Given the description of an element on the screen output the (x, y) to click on. 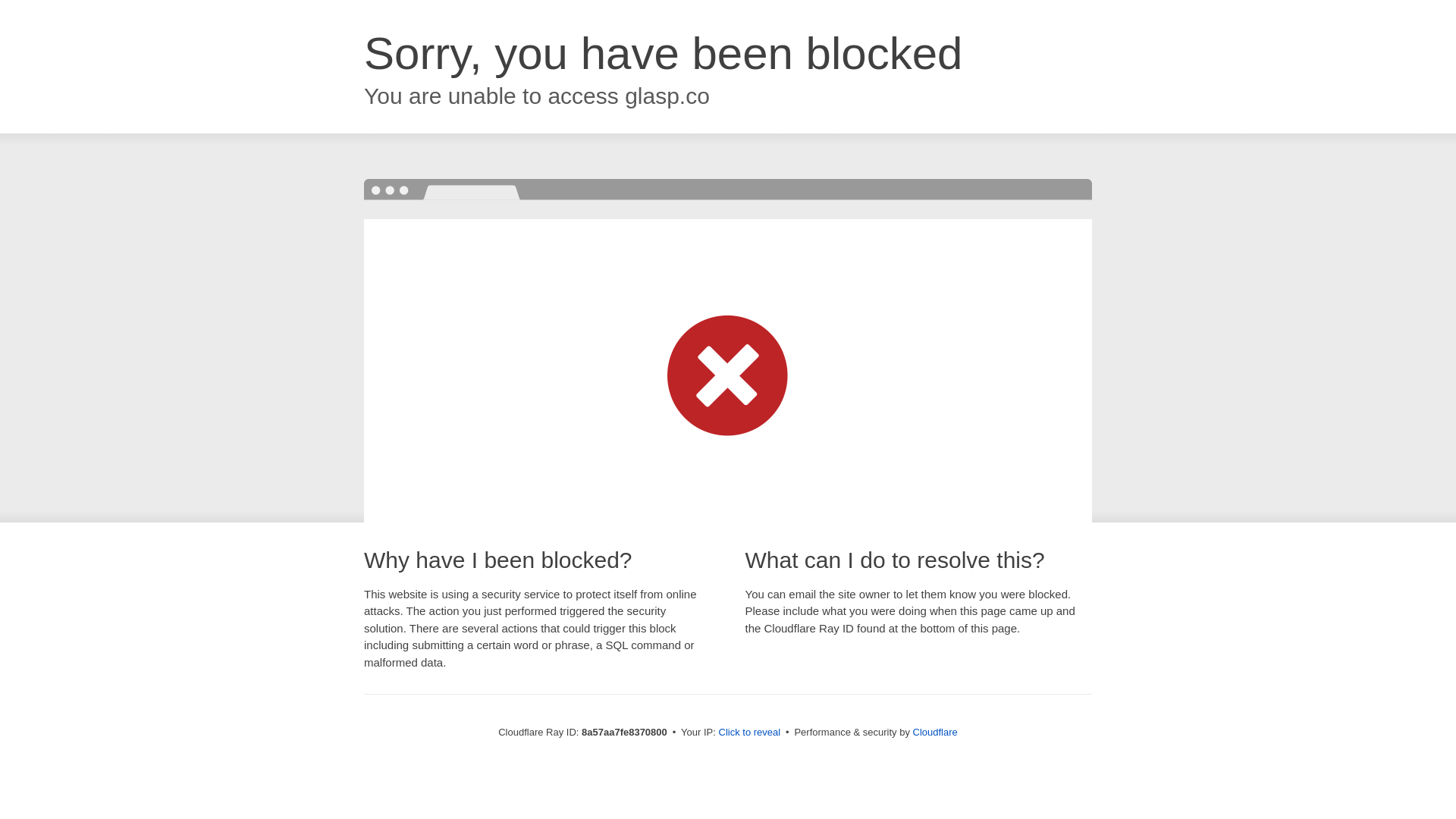
Click to reveal (749, 732)
Cloudflare (935, 731)
